Given the description of an element on the screen output the (x, y) to click on. 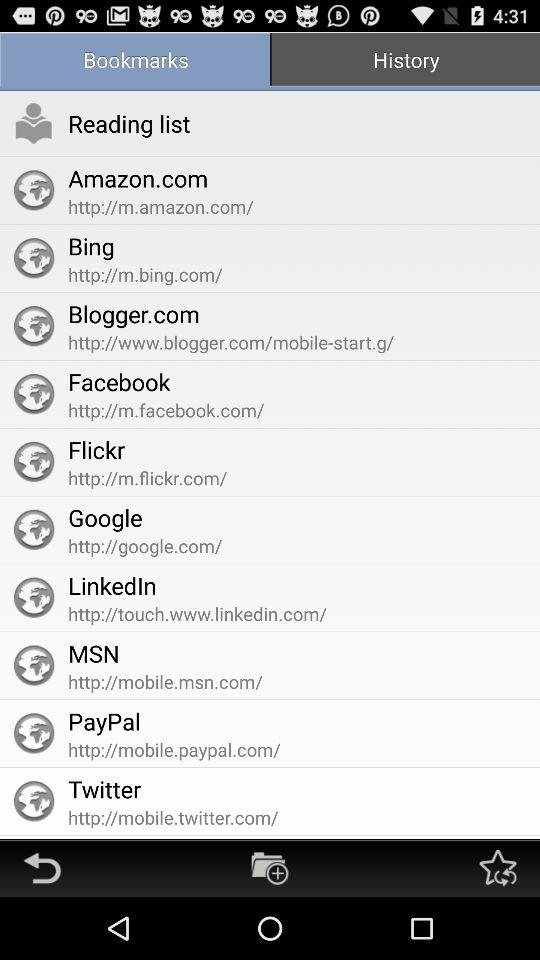
go back (42, 868)
